Given the description of an element on the screen output the (x, y) to click on. 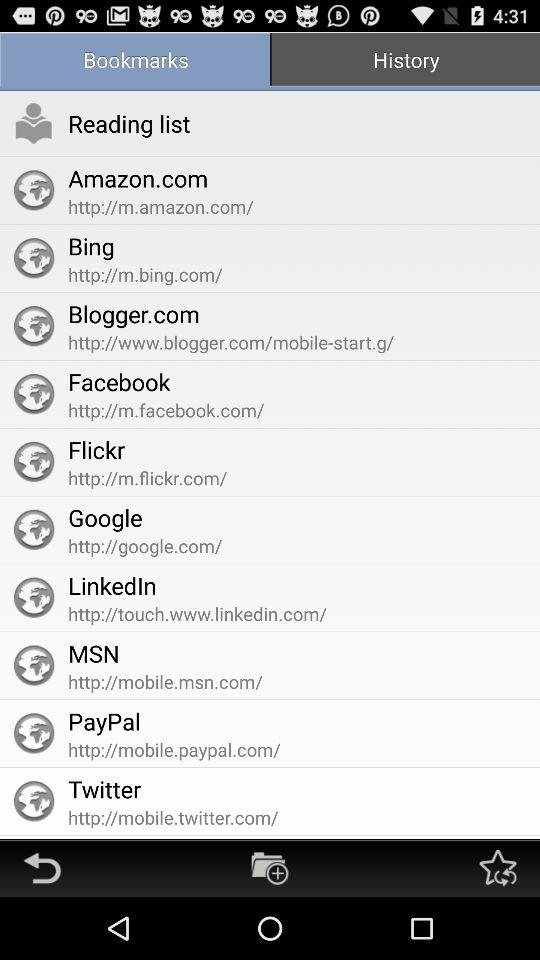
go back (42, 868)
